Given the description of an element on the screen output the (x, y) to click on. 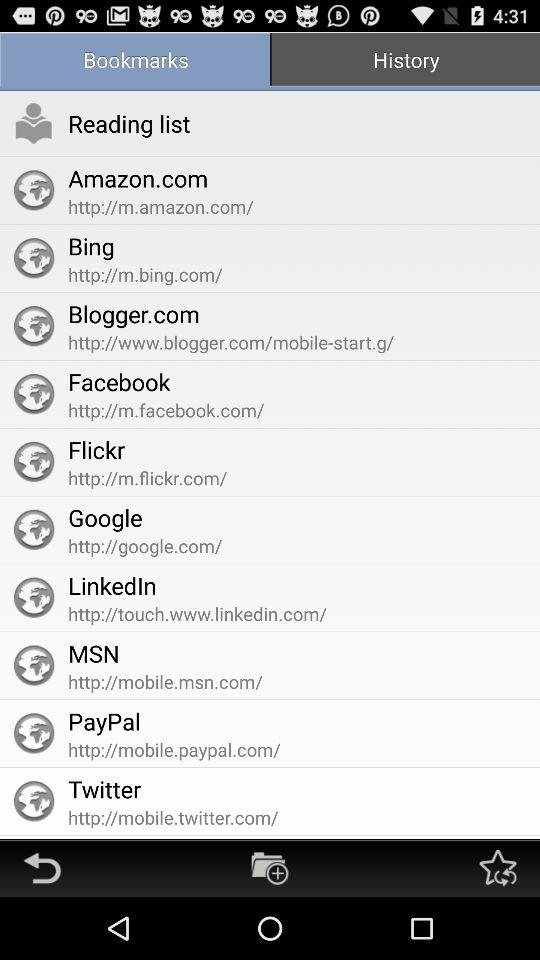
go back (42, 868)
